Given the description of an element on the screen output the (x, y) to click on. 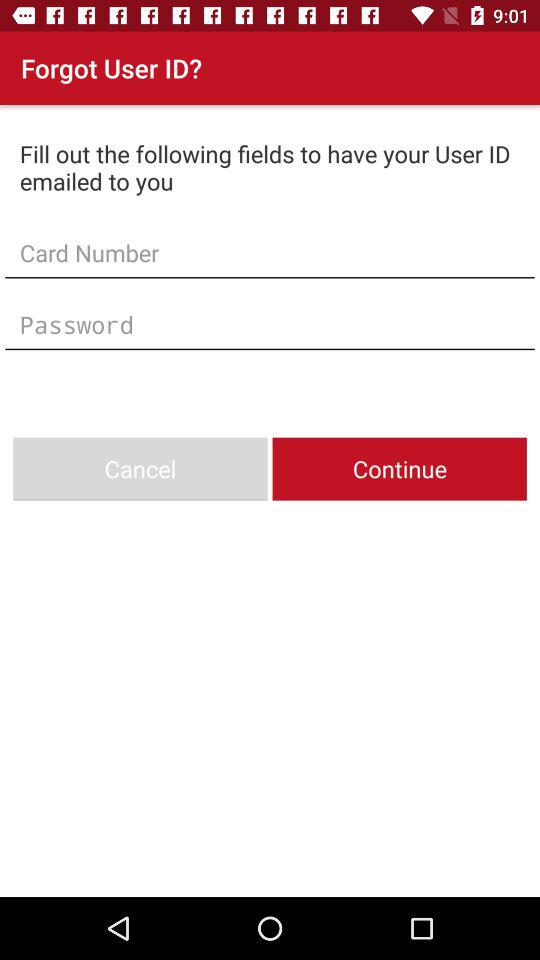
enter password (270, 324)
